Given the description of an element on the screen output the (x, y) to click on. 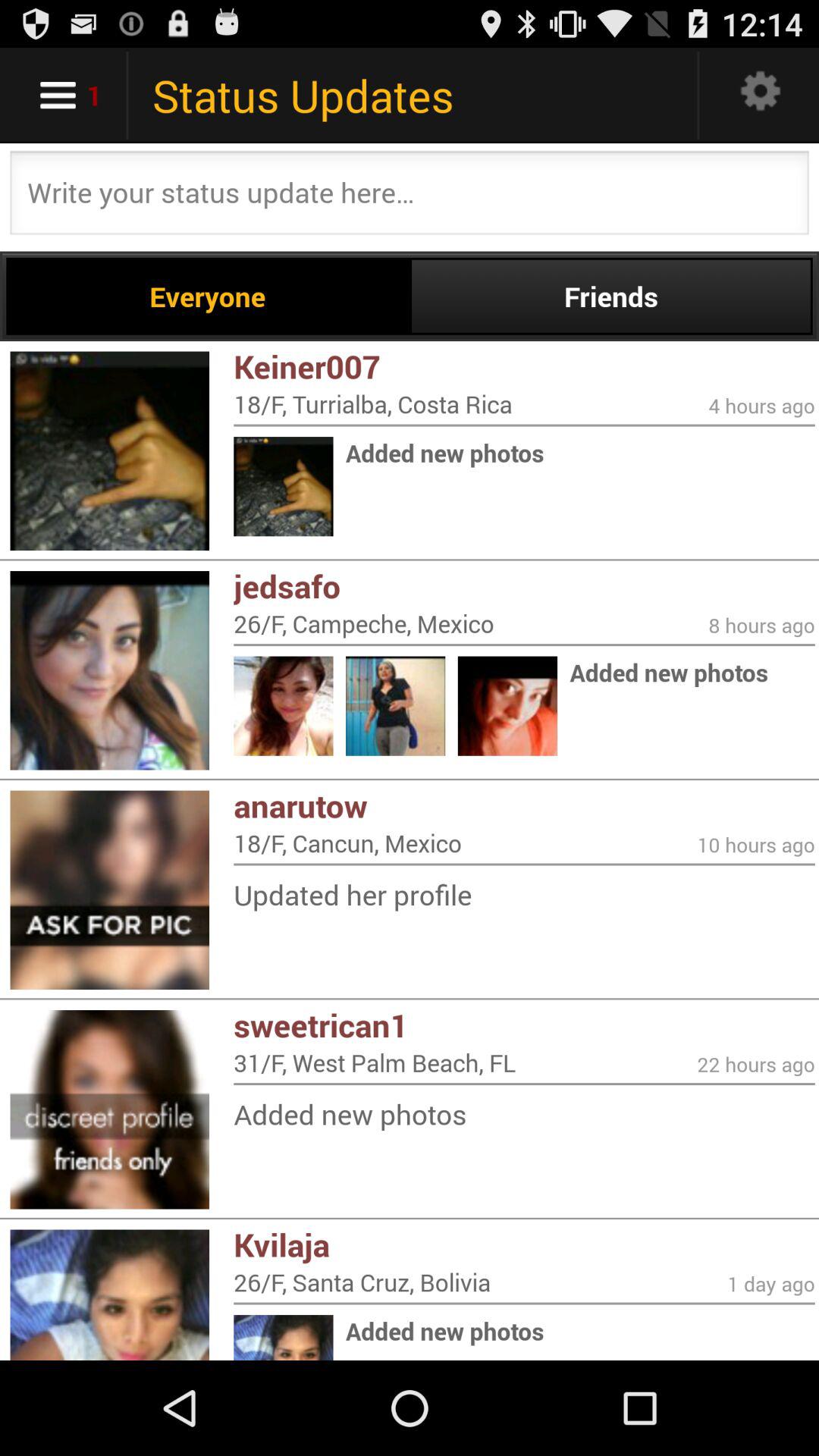
setting bar (761, 95)
